Given the description of an element on the screen output the (x, y) to click on. 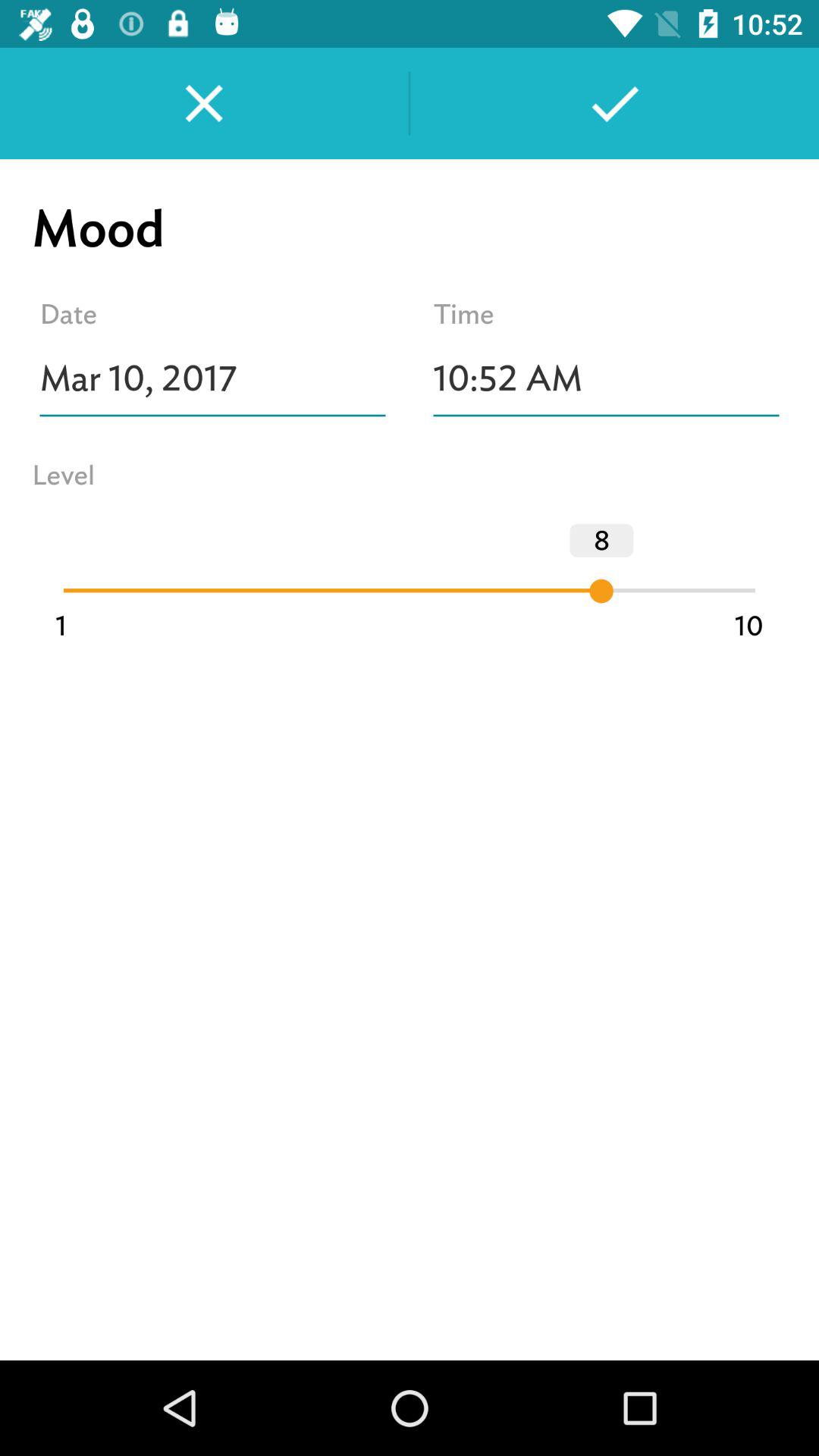
choose mar 10, 2017 (212, 378)
